Given the description of an element on the screen output the (x, y) to click on. 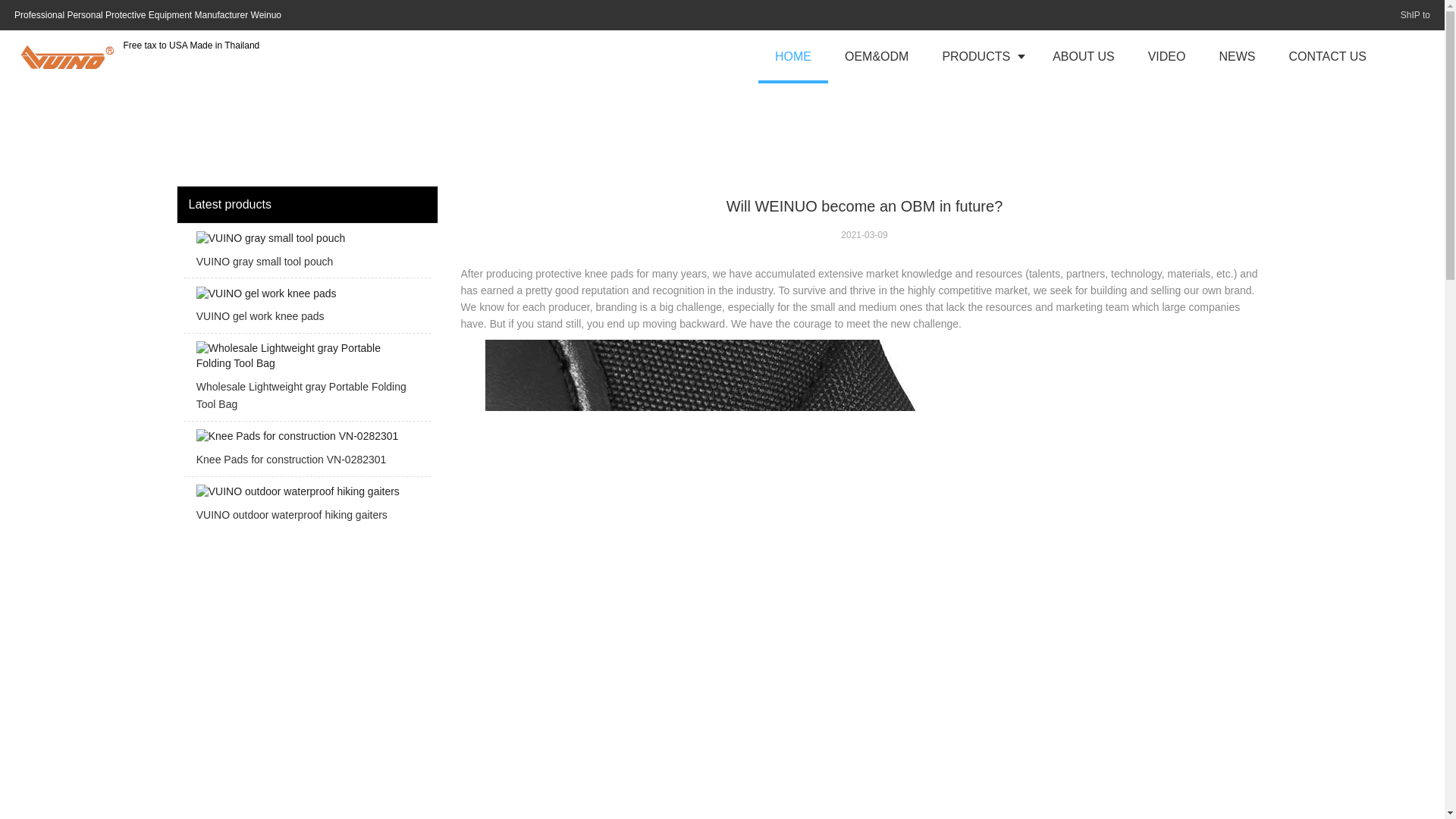
VUINO gray small tool pouch (306, 254)
Knee Pads for construction VN-0282301 (306, 452)
NEWS (1236, 56)
ABOUT US (1083, 56)
VUINO gel work knee pads (306, 308)
VUINO outdoor waterproof hiking gaiters (306, 507)
VIDEO (1166, 56)
HOME (793, 56)
Wholesale Lightweight gray Portable Folding Tool Bag (306, 380)
PRODUCTS (979, 56)
